Given the description of an element on the screen output the (x, y) to click on. 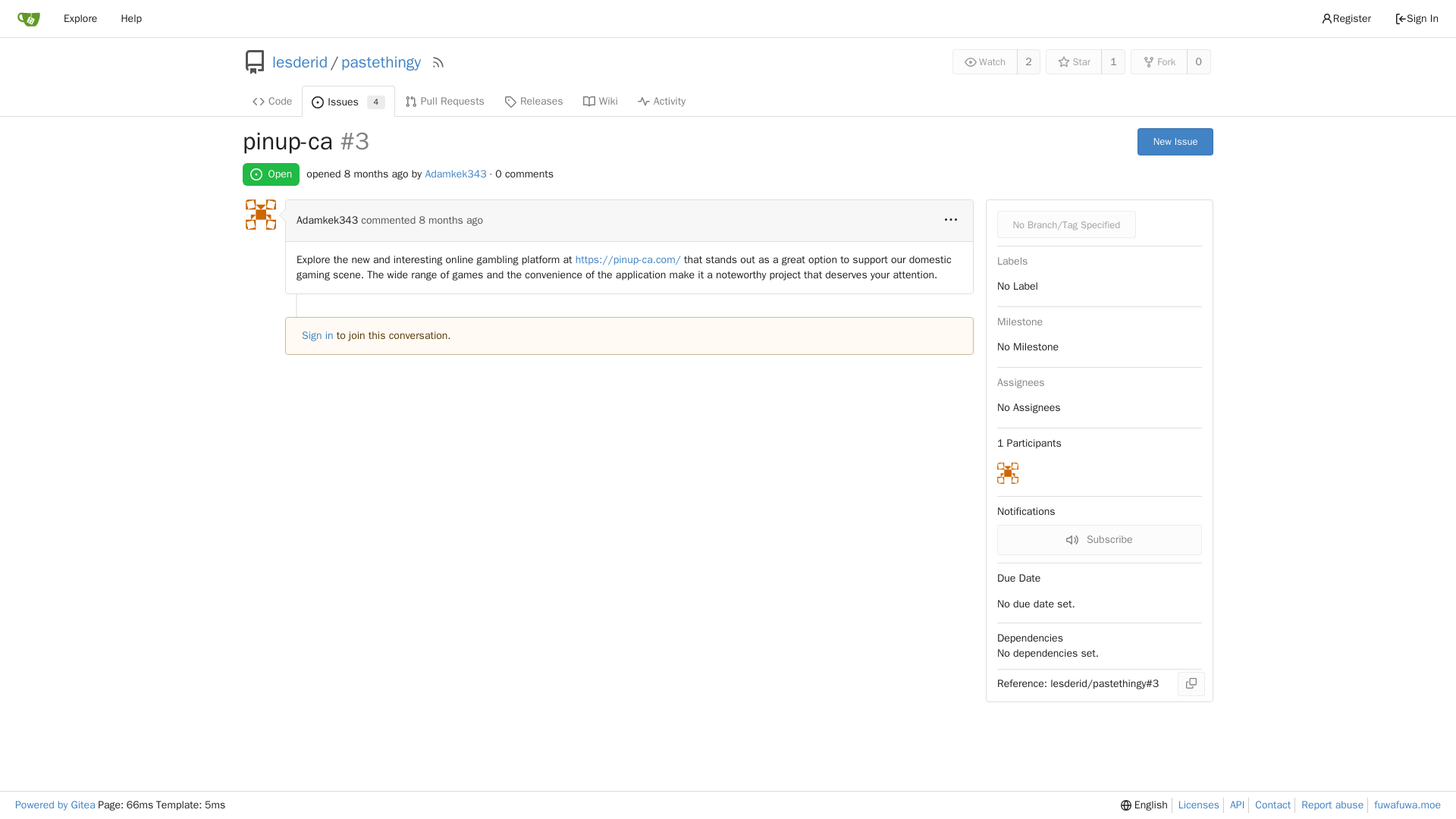
Adamkek343 (261, 214)
Sign in (317, 335)
Star (1073, 61)
Assignees (1021, 382)
Adamkek343 (1007, 473)
Wiki (600, 101)
Fork (1159, 61)
Adamkek343 (455, 173)
New Issue (1174, 140)
Releases (534, 101)
2 (1028, 61)
Help (130, 17)
pastethingy (380, 61)
Milestone (1019, 322)
1 (1112, 61)
